Given the description of an element on the screen output the (x, y) to click on. 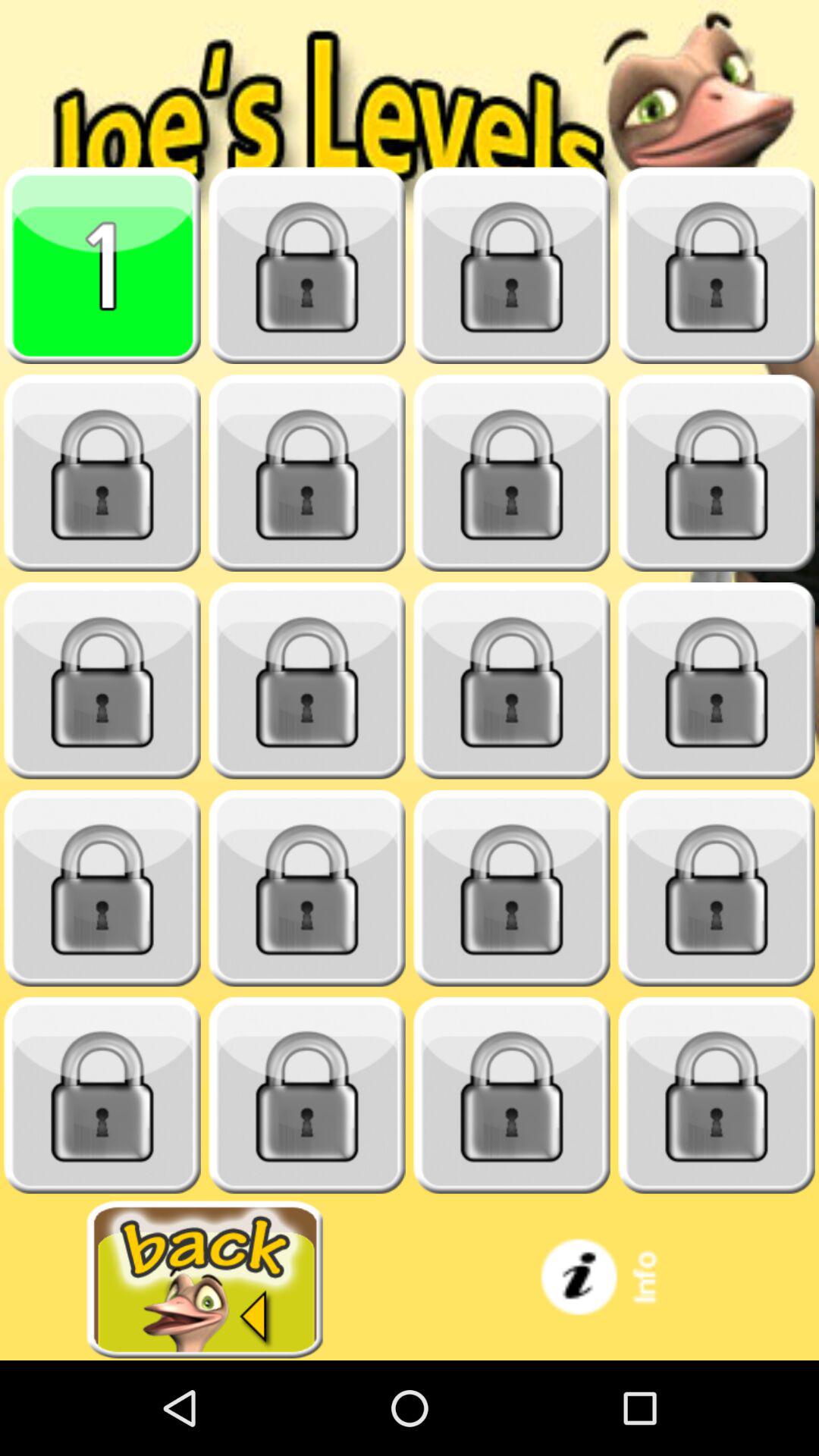
go to level which is locked (306, 473)
